Given the description of an element on the screen output the (x, y) to click on. 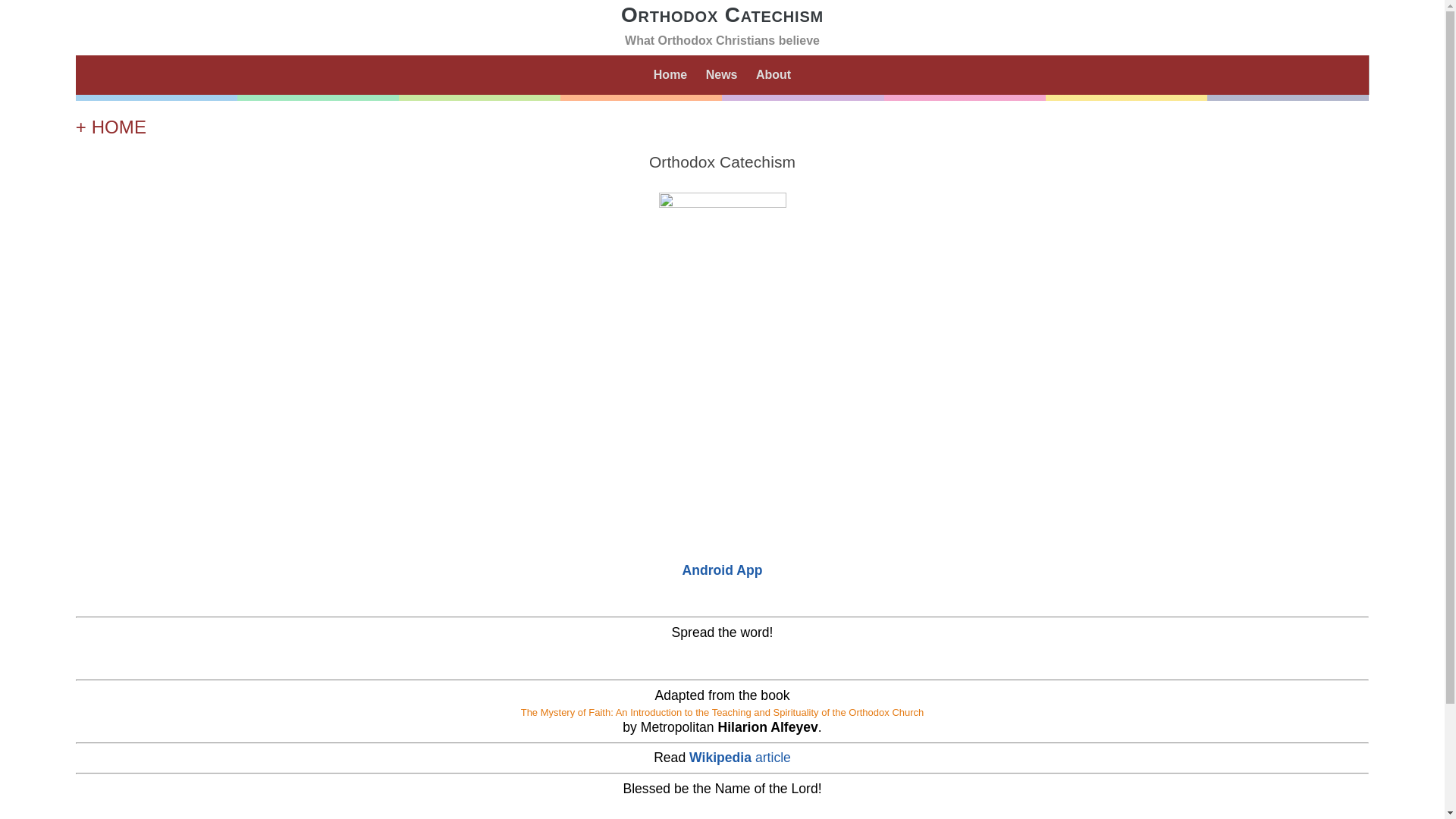
About Element type: text (773, 75)
Orthodox Catechism Element type: text (722, 14)
Android App Element type: text (722, 569)
Home Element type: text (669, 75)
Table of Contents Element type: text (722, 506)
Wikipedia article Element type: text (739, 757)
News Element type: text (721, 75)
